Given the description of an element on the screen output the (x, y) to click on. 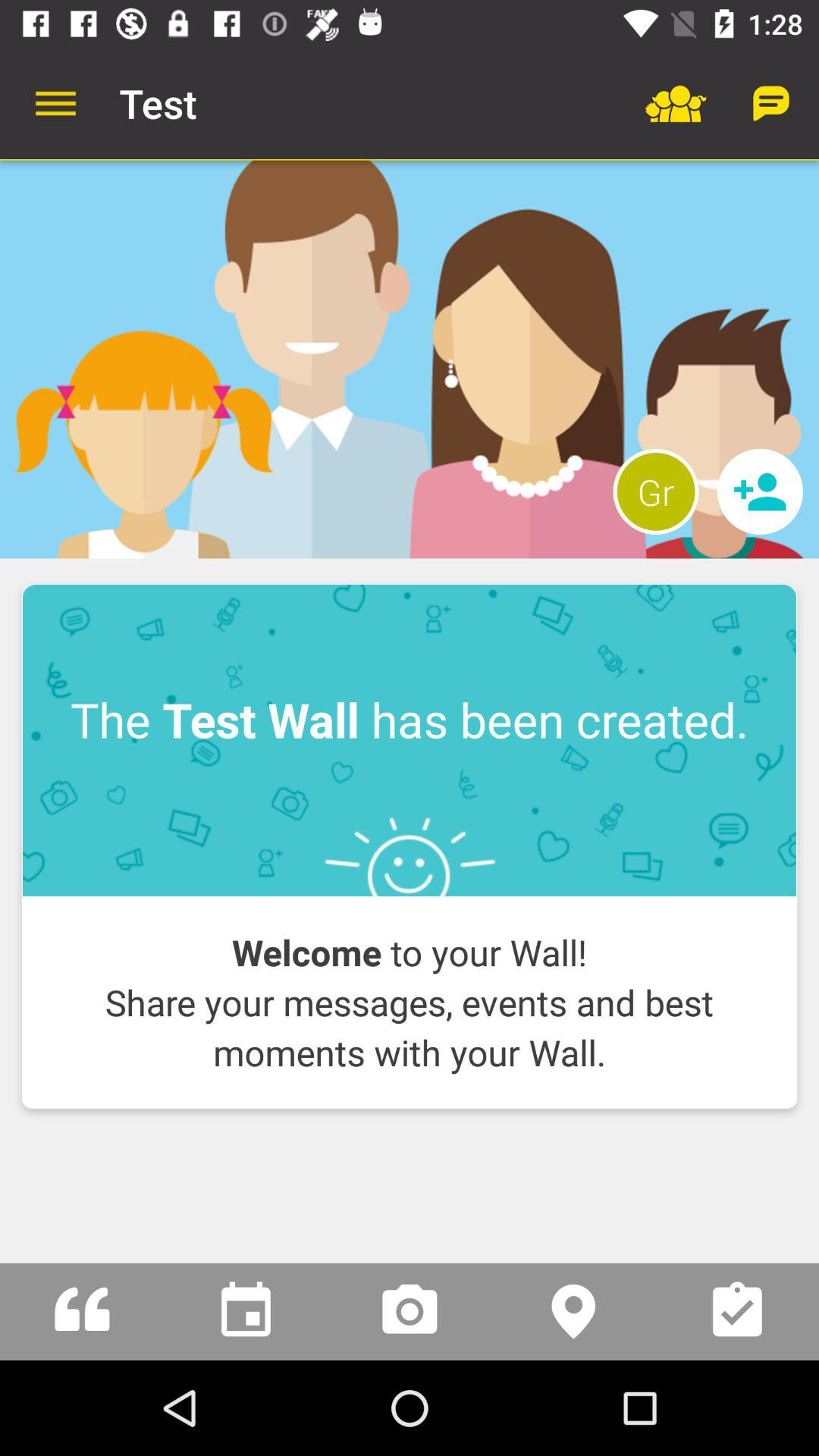
to do list open (737, 1311)
